Given the description of an element on the screen output the (x, y) to click on. 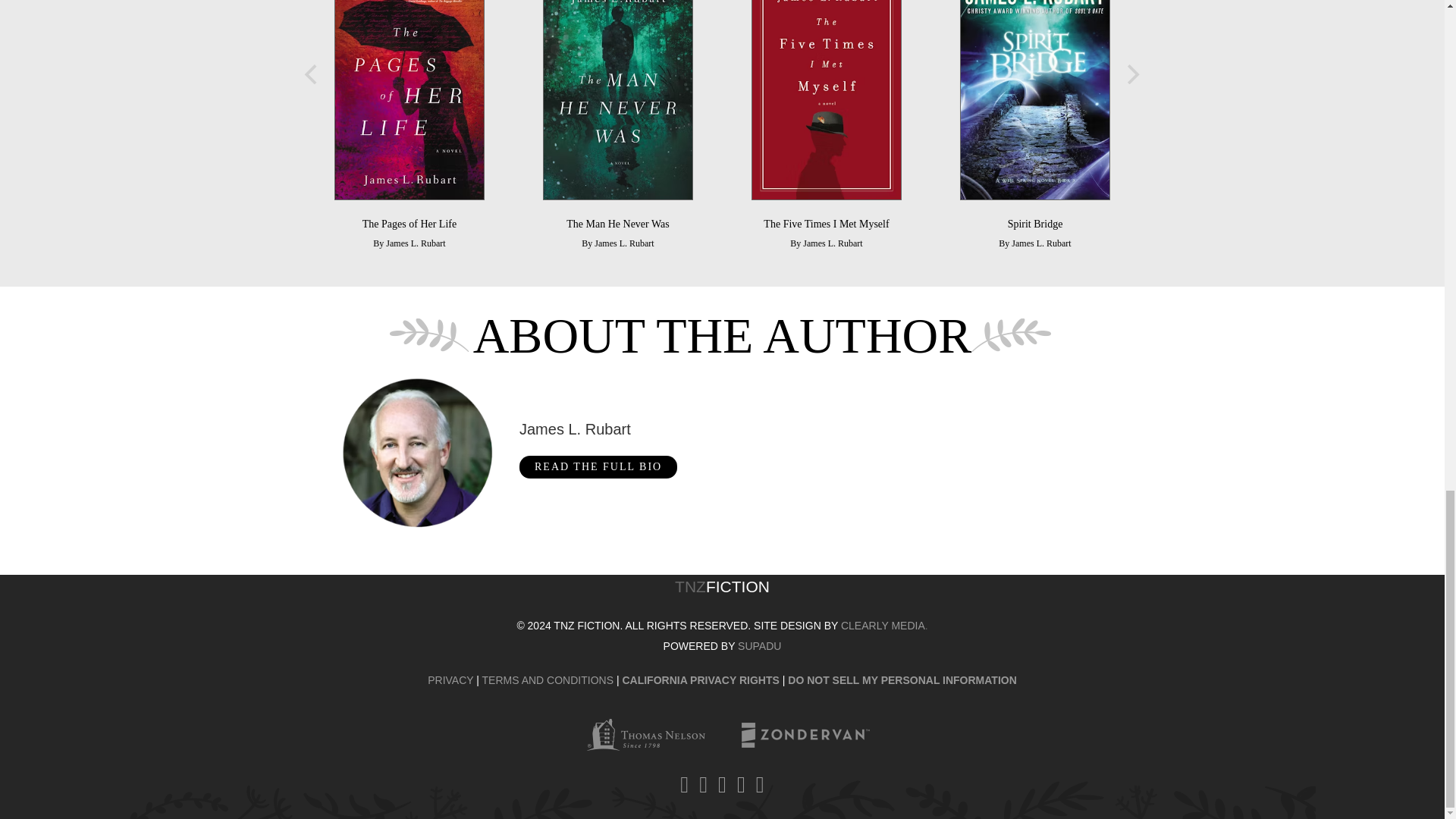
The Man He Never Was (617, 99)
The Pages of Her Life (409, 224)
Spirit Bridge (1034, 224)
The Five Times I Met Myself (201, 99)
The Pages of Her Life (408, 99)
The Man He Never Was (617, 224)
The Pages of Her Life (409, 224)
The Five Times I Met Myself (825, 224)
